Given the description of an element on the screen output the (x, y) to click on. 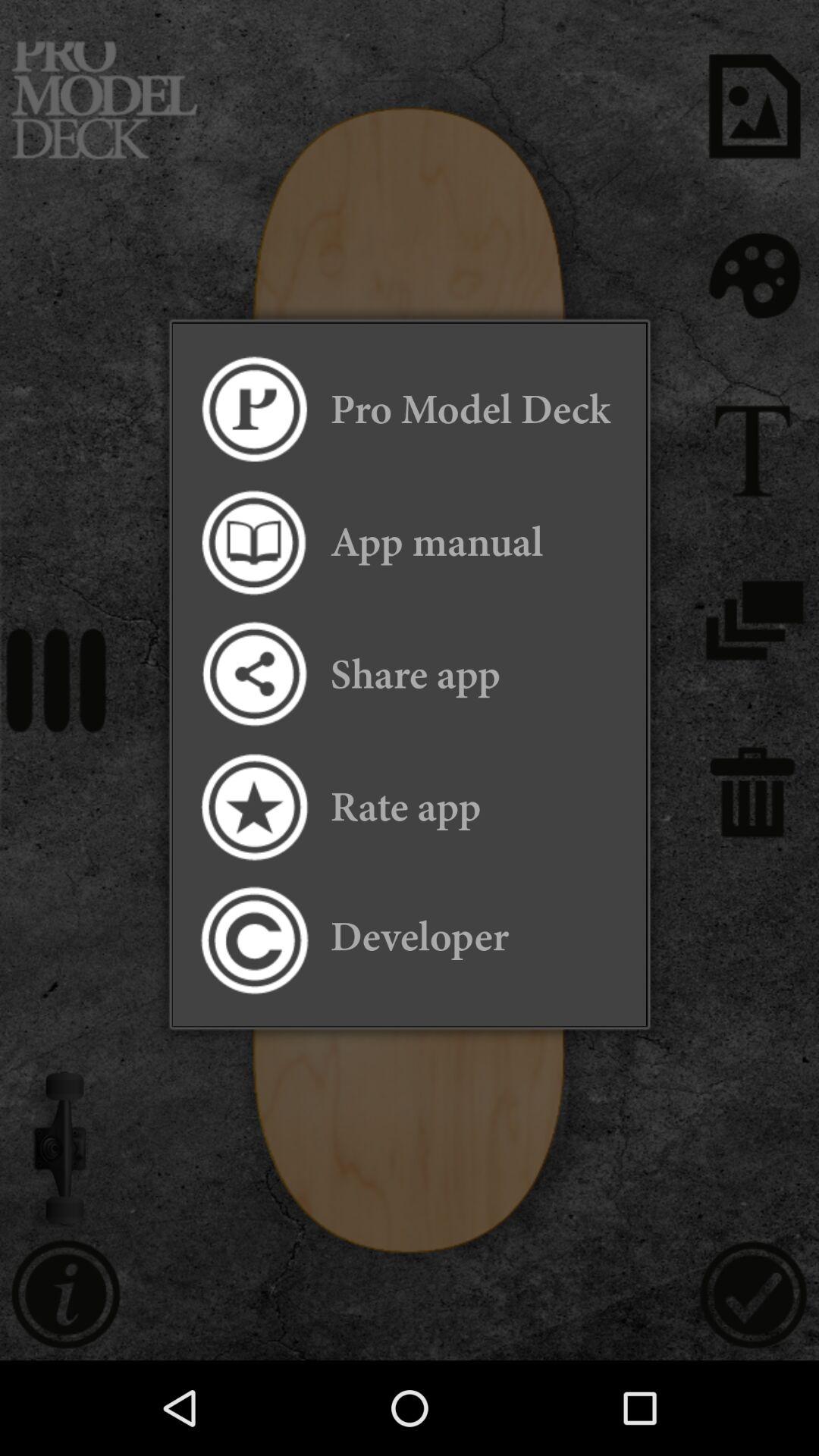
select deck icon (253, 409)
